Given the description of an element on the screen output the (x, y) to click on. 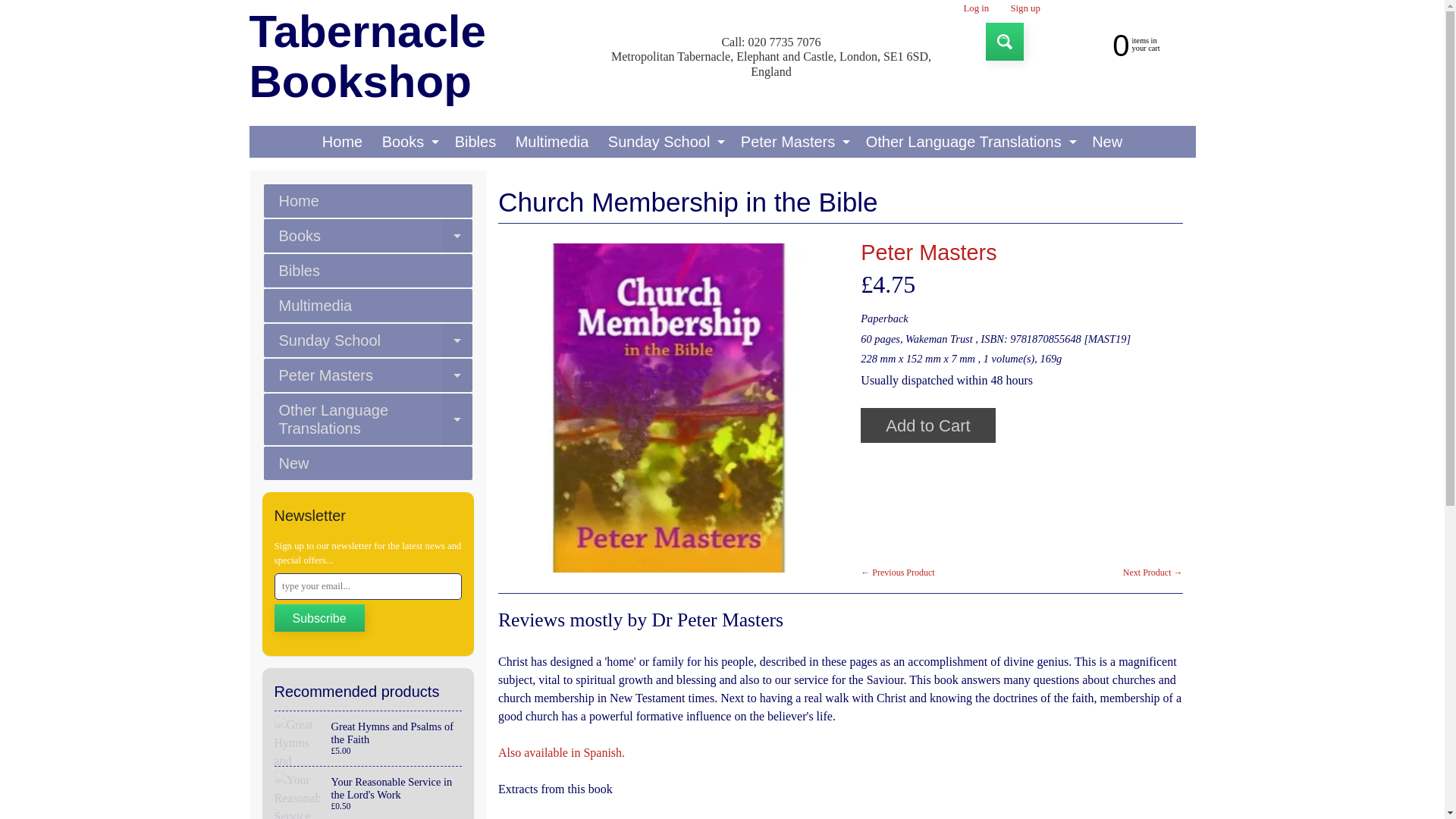
Great Hymns and Psalms of the Faith (369, 738)
Home (341, 141)
Search (1004, 41)
Sign up (1025, 8)
Peter Masters (927, 252)
Log in (409, 141)
Tabernacle Bookshop (975, 8)
Expand child menu (1122, 43)
Your Reasonable Service in the Lord's Work (422, 56)
Tabernacle Bookshop (435, 141)
Search (369, 792)
